Given the description of an element on the screen output the (x, y) to click on. 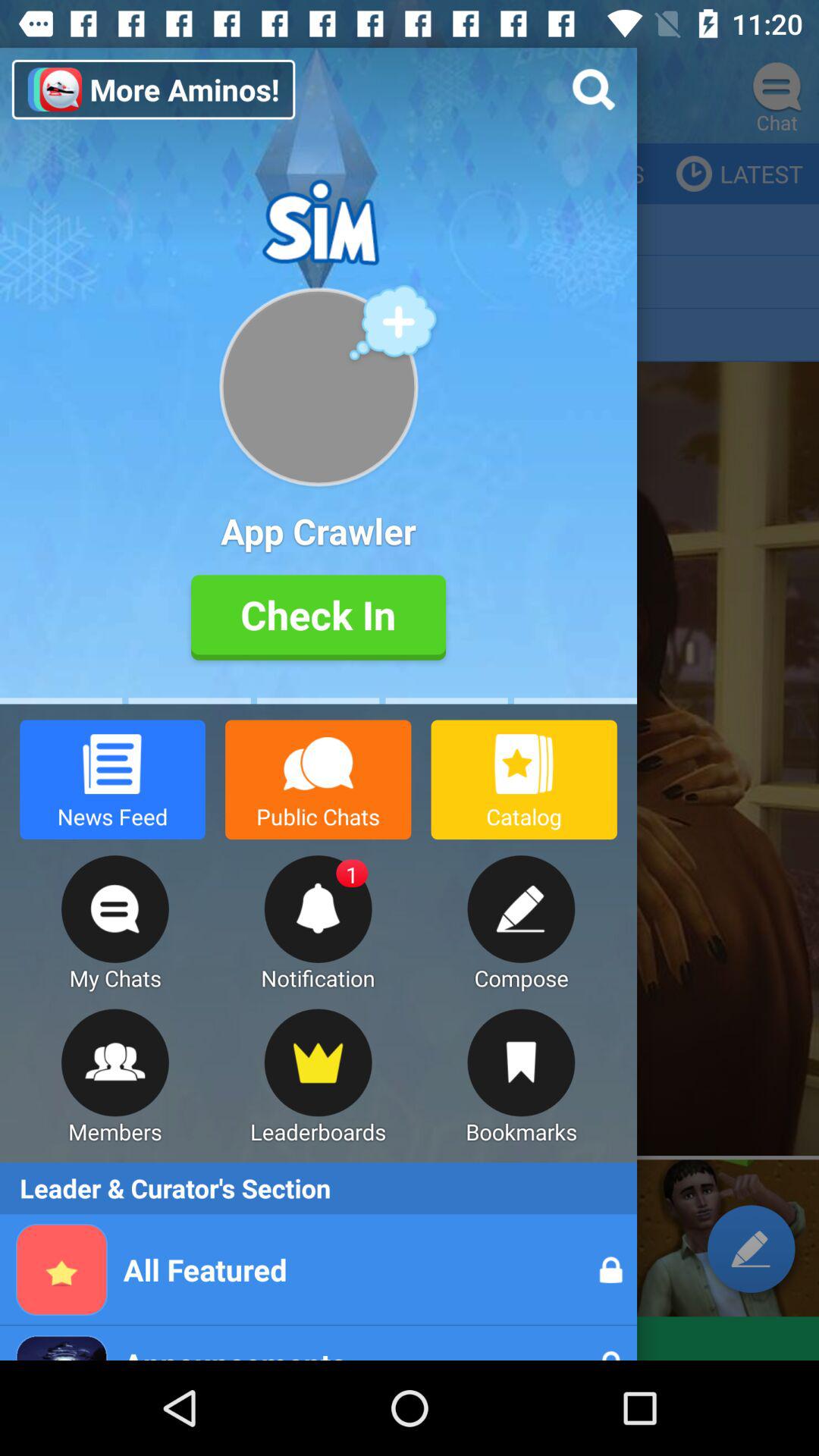
click on the icon on the left of more aminos (47, 95)
